Given the description of an element on the screen output the (x, y) to click on. 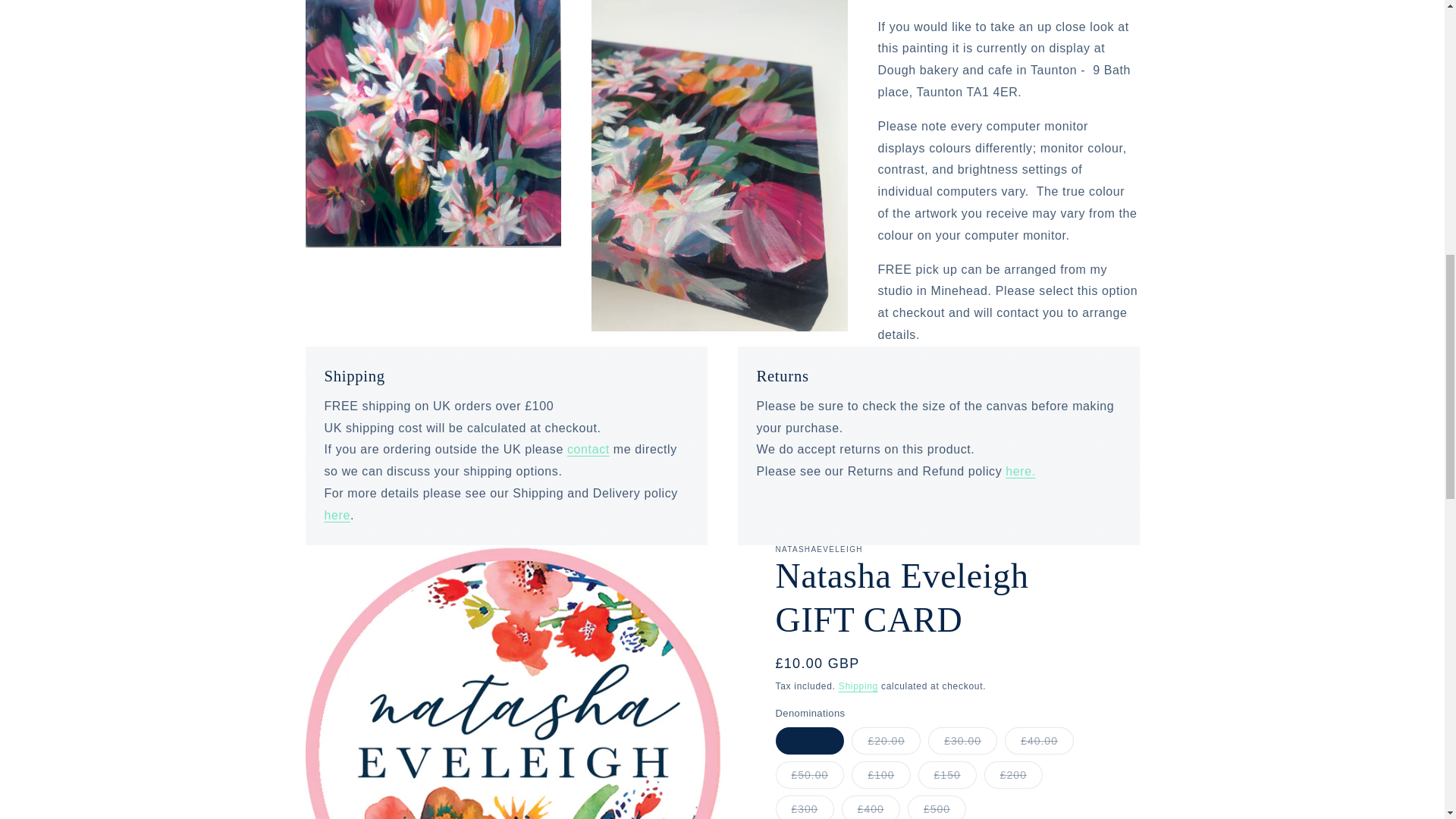
Contact (588, 449)
Refund Policy (1020, 471)
Shipping Policy (337, 514)
